Given the description of an element on the screen output the (x, y) to click on. 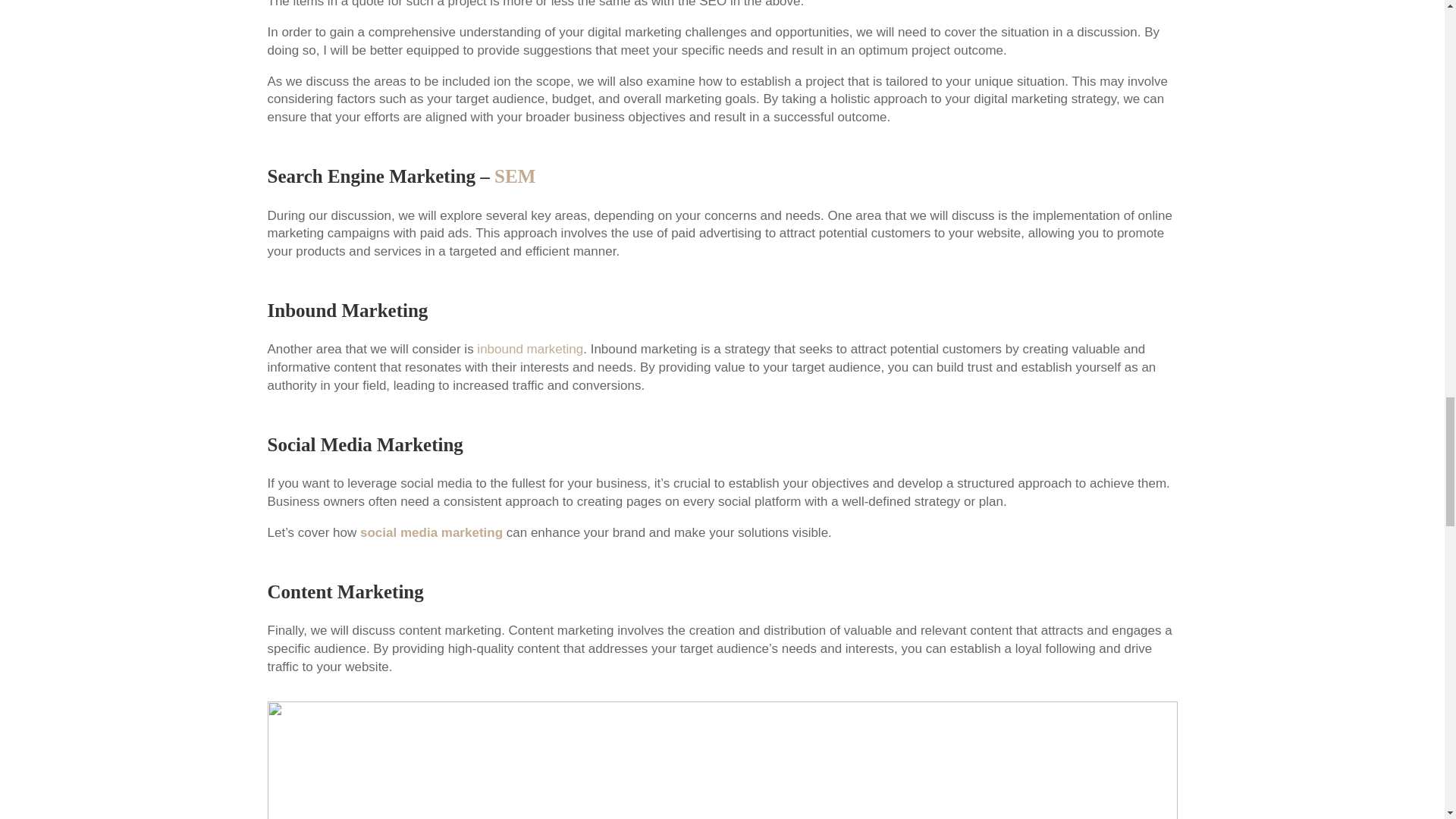
Multitasking 2-1 (721, 760)
